Given the description of an element on the screen output the (x, y) to click on. 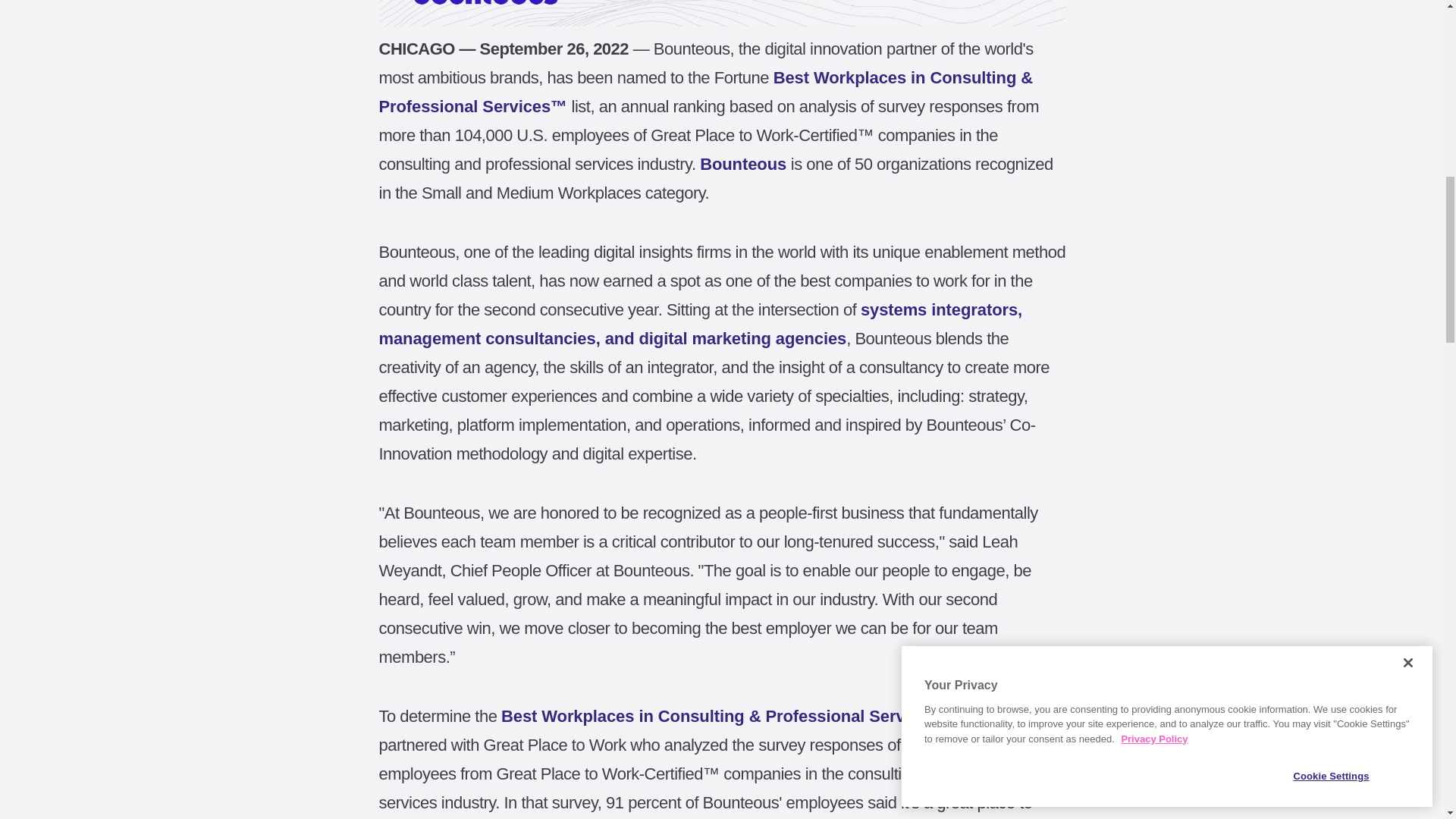
Bounteous (743, 163)
